Given the description of an element on the screen output the (x, y) to click on. 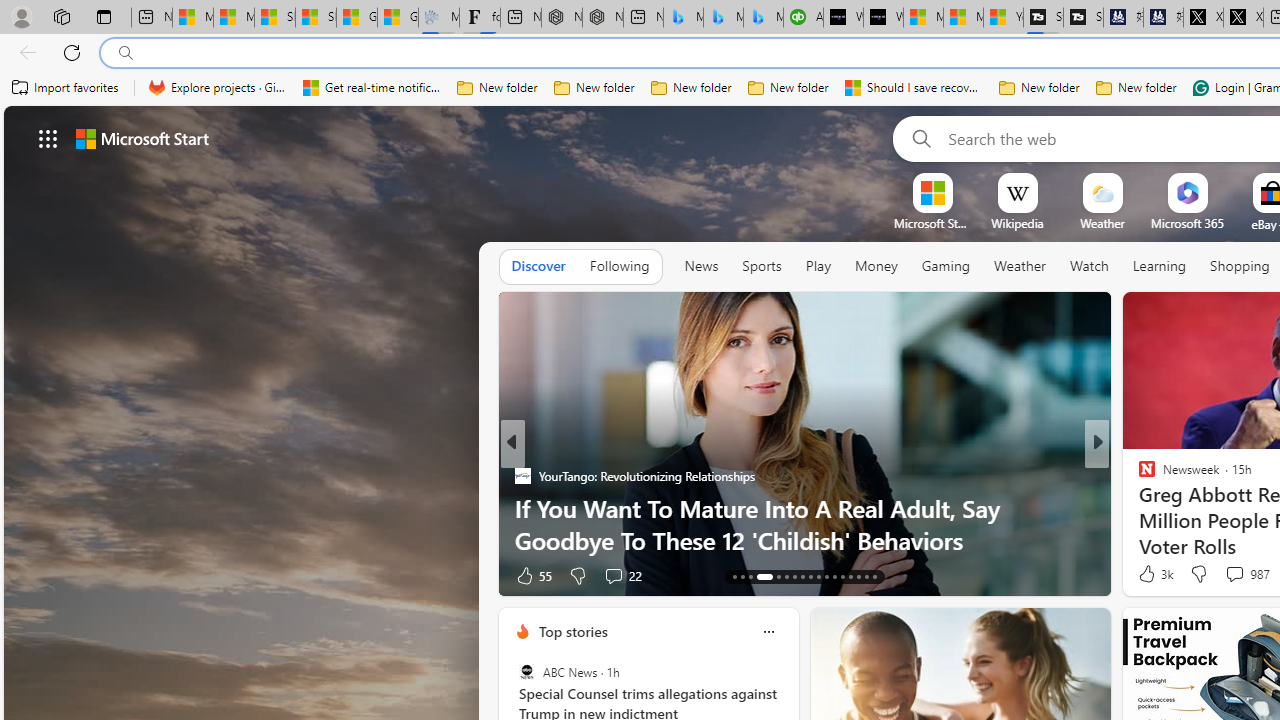
View comments 17 Comment (1234, 575)
Microsoft Bing Travel - Stays in Bangkok, Bangkok, Thailand (723, 17)
Interesting Engineering (1138, 475)
AutomationID: tab-21 (810, 576)
202 Like (1151, 574)
Nordace.com (1165, 507)
View comments 85 Comment (1237, 574)
Money (875, 265)
View comments 17 Comment (1244, 574)
